Given the description of an element on the screen output the (x, y) to click on. 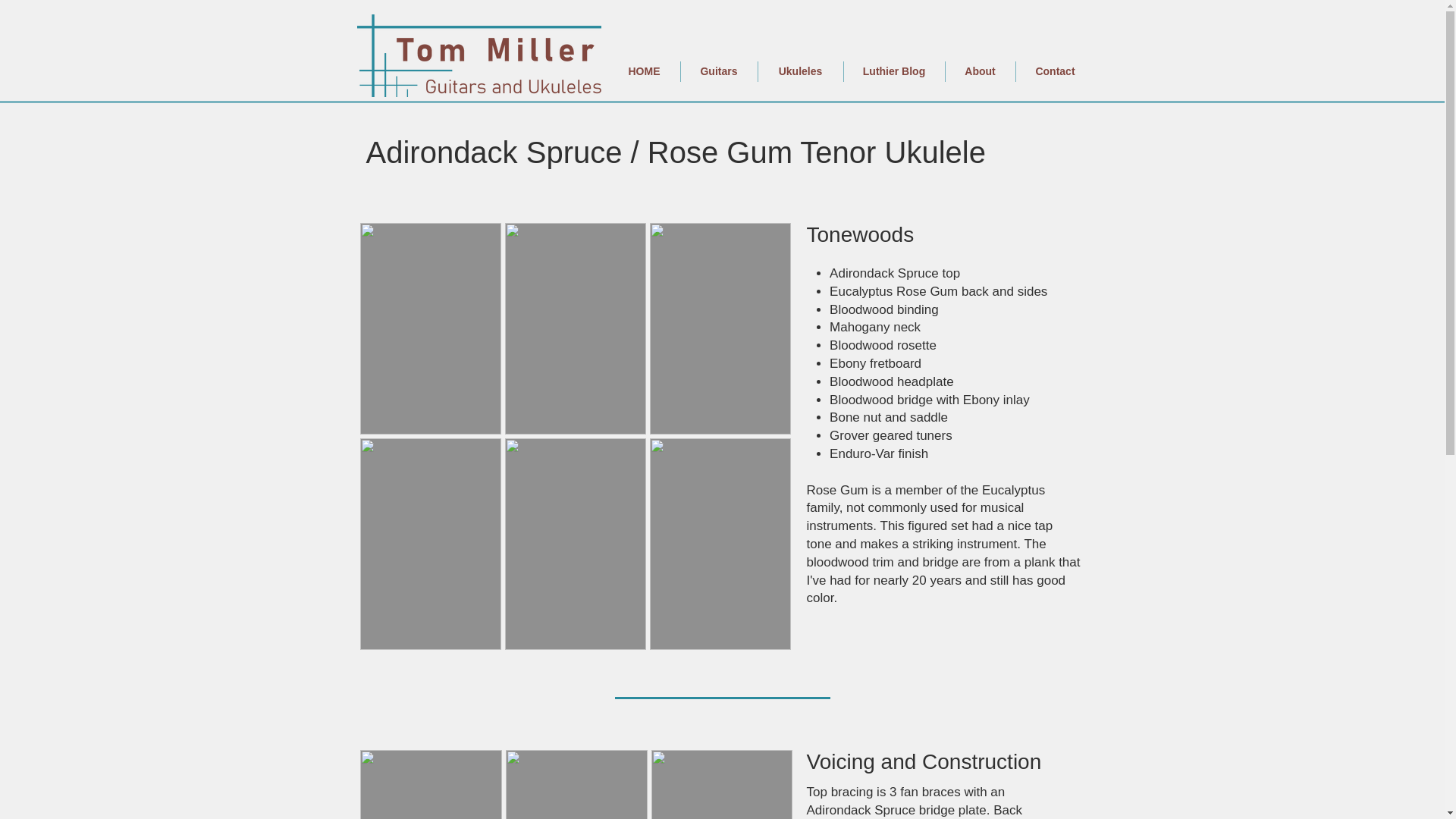
Contact (1055, 71)
Luthier Blog (893, 71)
About (979, 71)
HOME (643, 71)
